Given the description of an element on the screen output the (x, y) to click on. 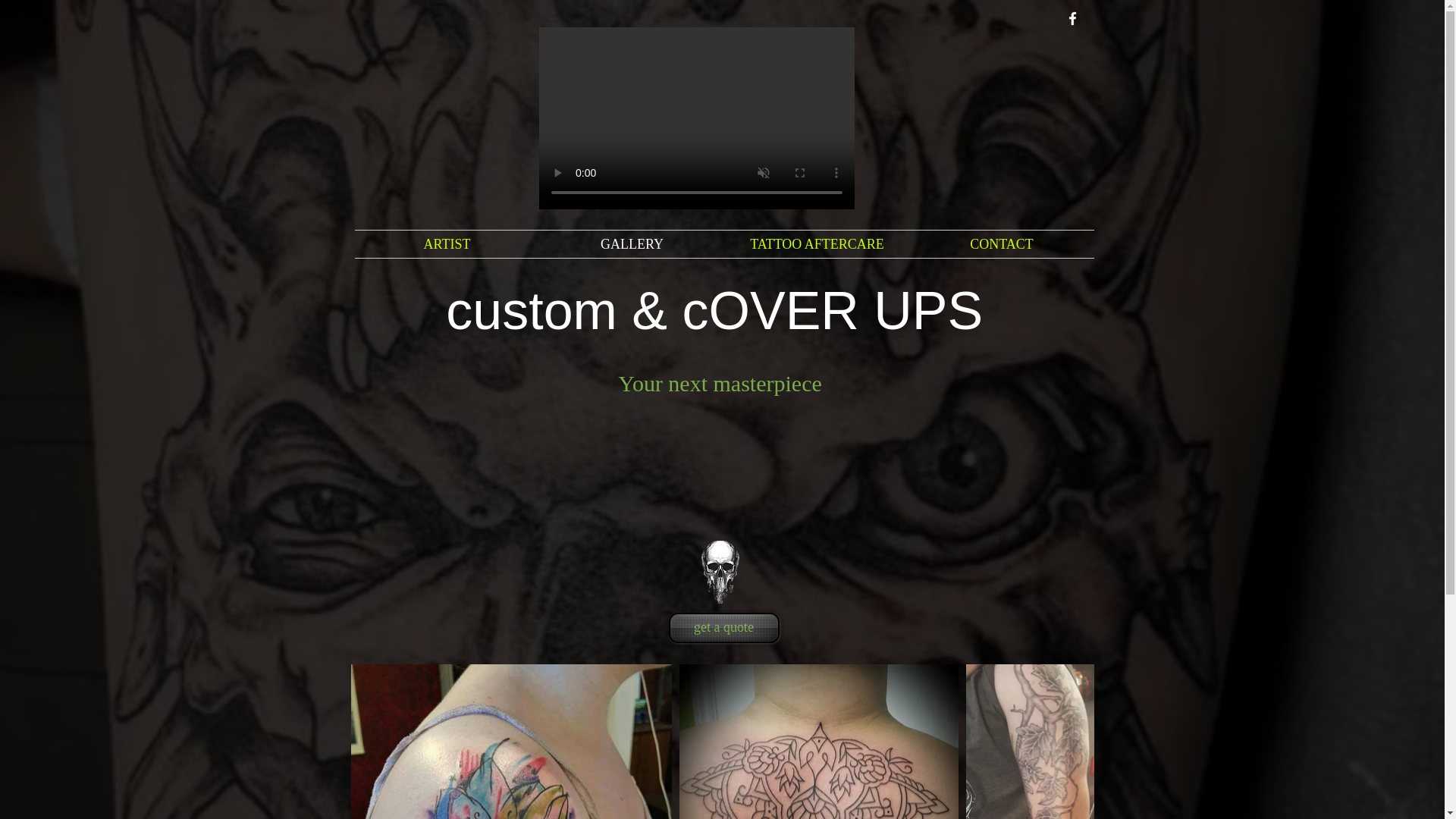
get a quote (723, 627)
CONTACT (1002, 243)
GALLERY (632, 243)
ARTIST (447, 243)
TATTOO AFTERCARE (817, 243)
